Given the description of an element on the screen output the (x, y) to click on. 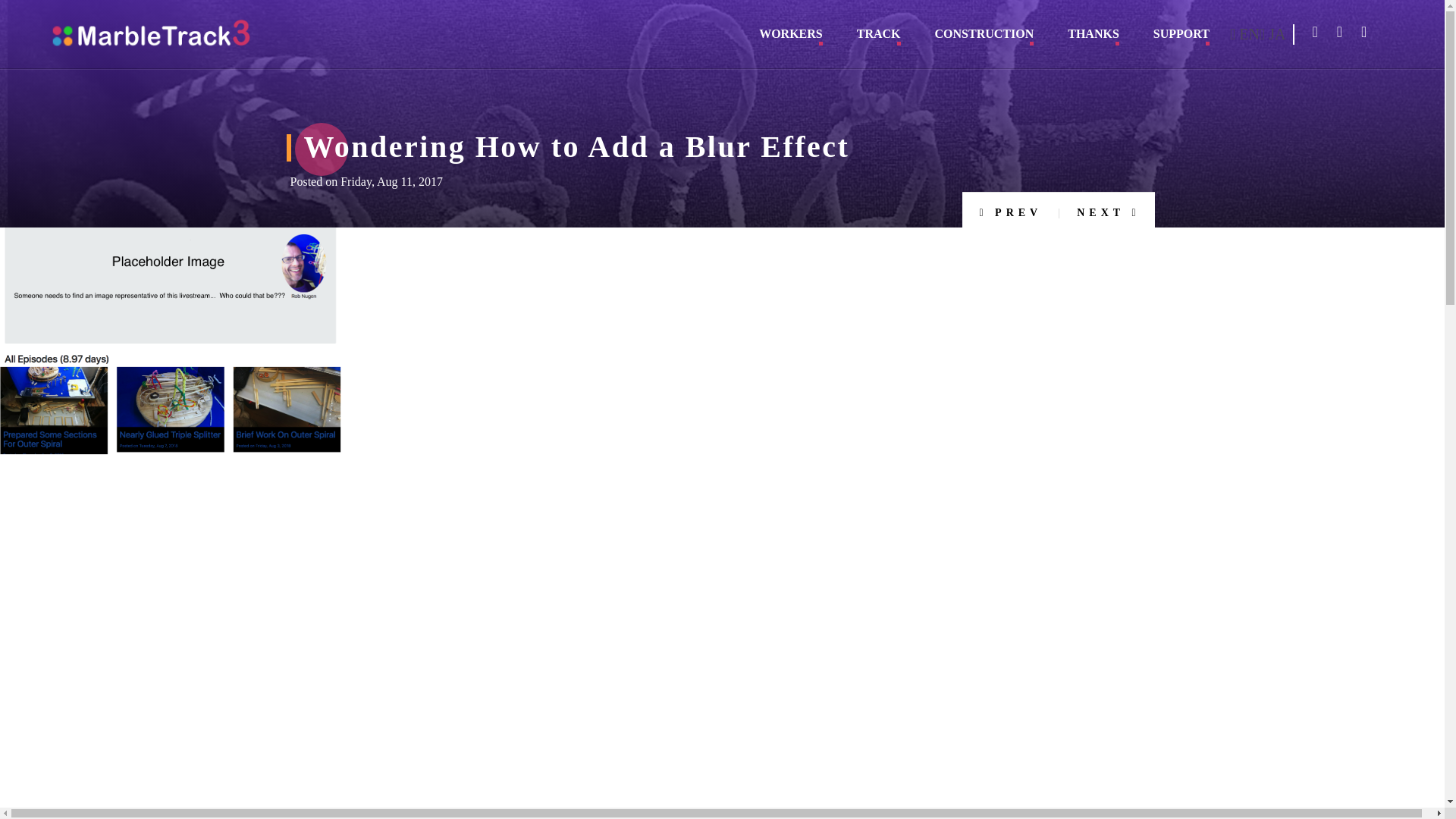
NEXT (1107, 209)
WORKERS (790, 39)
THANKS (1093, 39)
EN (1244, 33)
SUPPORT (1181, 39)
PREV (1010, 209)
JA (1272, 33)
CONSTRUCTION (983, 39)
